Given the description of an element on the screen output the (x, y) to click on. 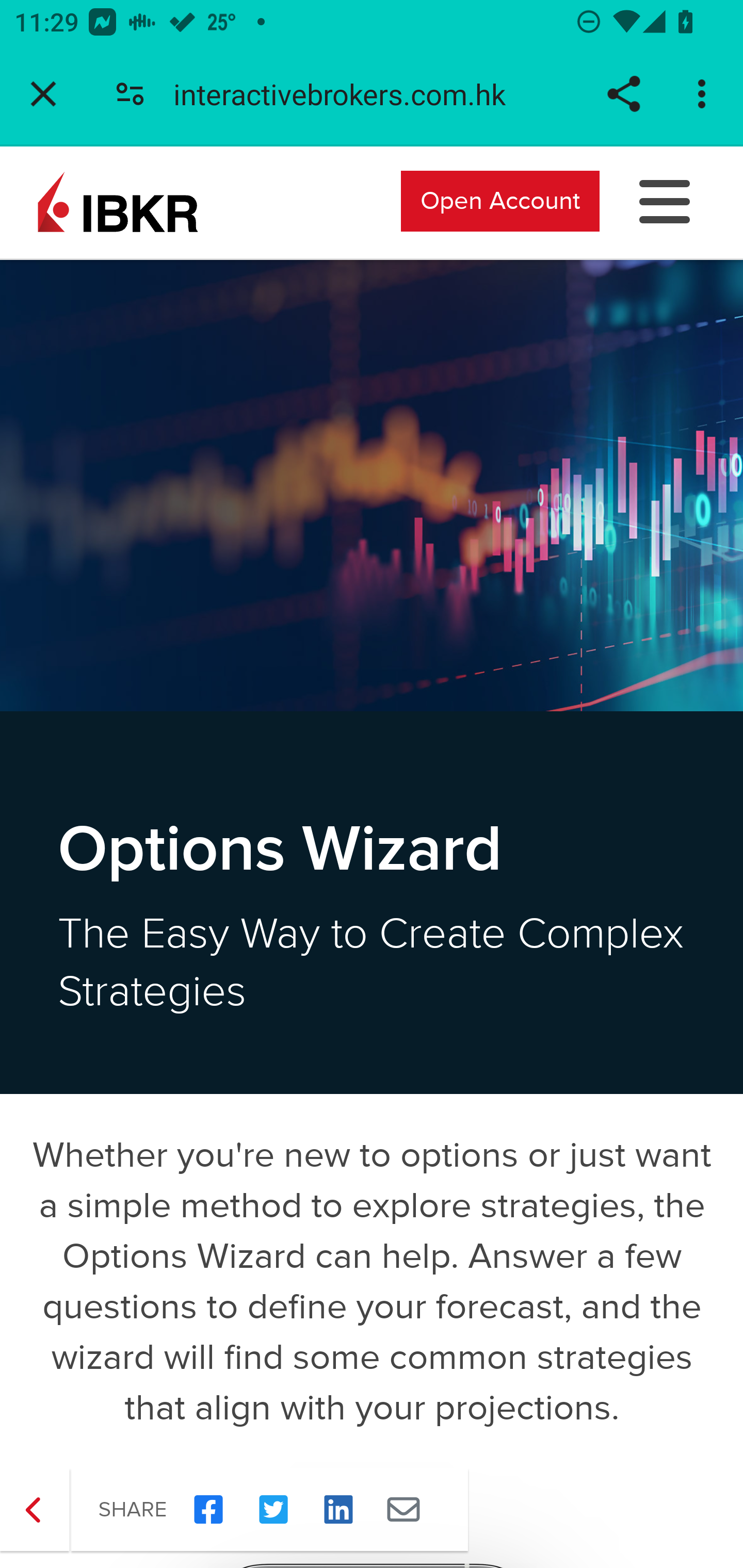
Close tab (43, 93)
Share (623, 93)
Customize and control Google Chrome (705, 93)
Connection is secure (129, 93)
interactivebrokers.com.hk (346, 93)
Interactive Brokers Home (117, 200)
Open Account (500, 200)
Toggle Navigation (665, 200)
Share on Facebook  (208, 1509)
Share on Twitter  (272, 1509)
Share on Linkedin  (338, 1509)
Share by Email  (403, 1509)
